Given the description of an element on the screen output the (x, y) to click on. 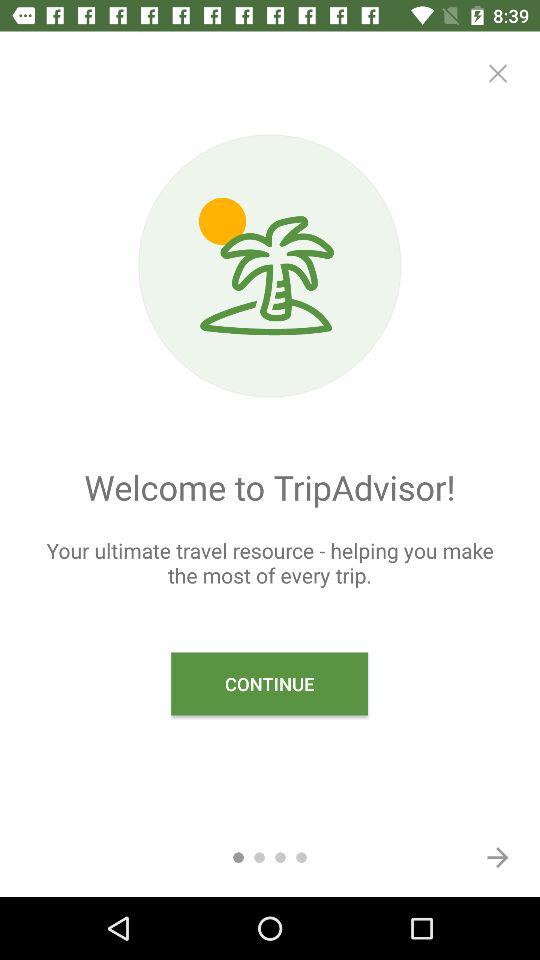
turn on item below the your ultimate travel item (269, 683)
